Given the description of an element on the screen output the (x, y) to click on. 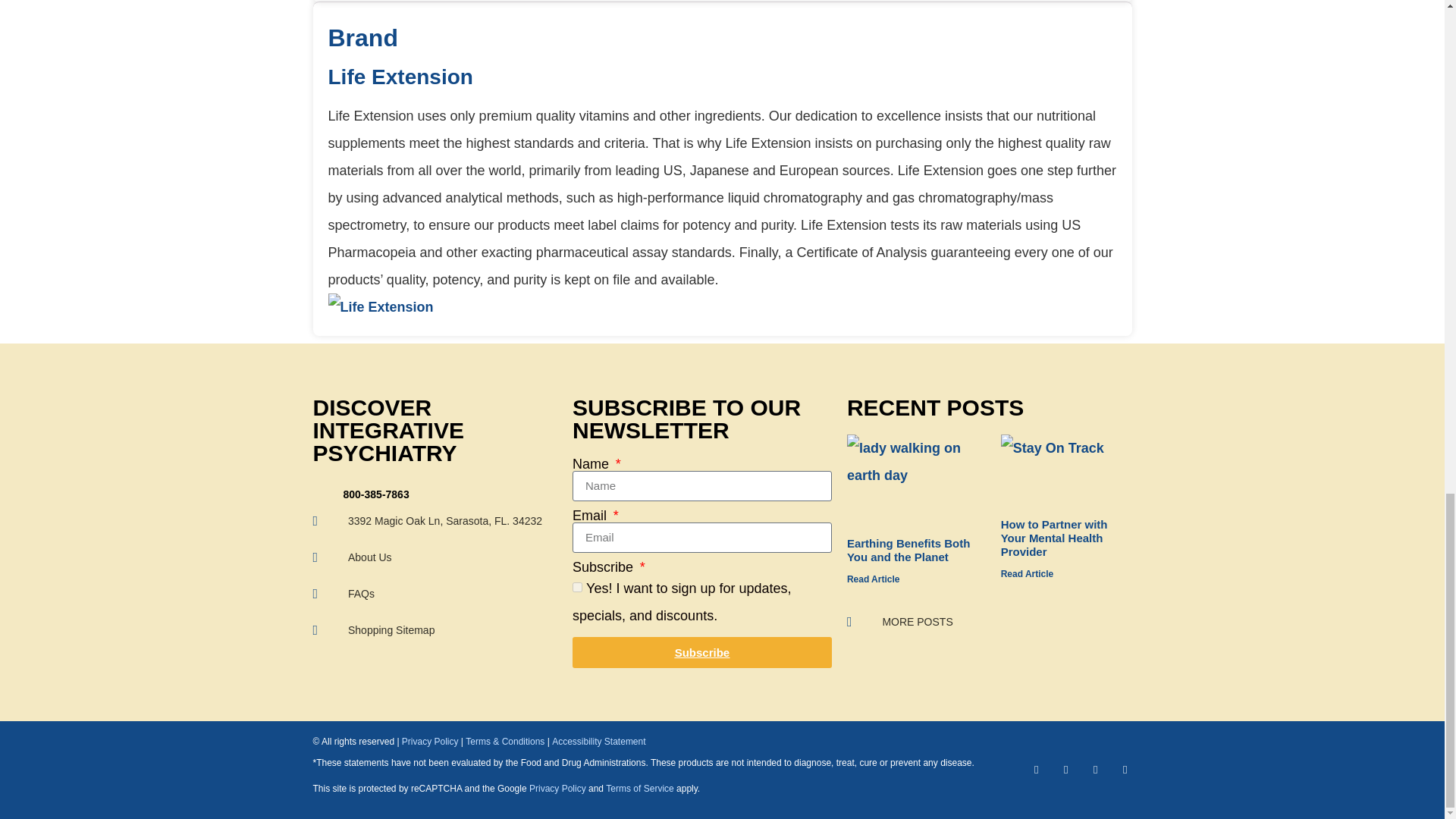
map (435, 519)
twitter (1036, 769)
faq (435, 592)
sitemap (435, 628)
youtube (1125, 769)
instagram (1094, 769)
info (435, 556)
facebook (1065, 769)
Life Extension (379, 305)
on (577, 587)
